Given the description of an element on the screen output the (x, y) to click on. 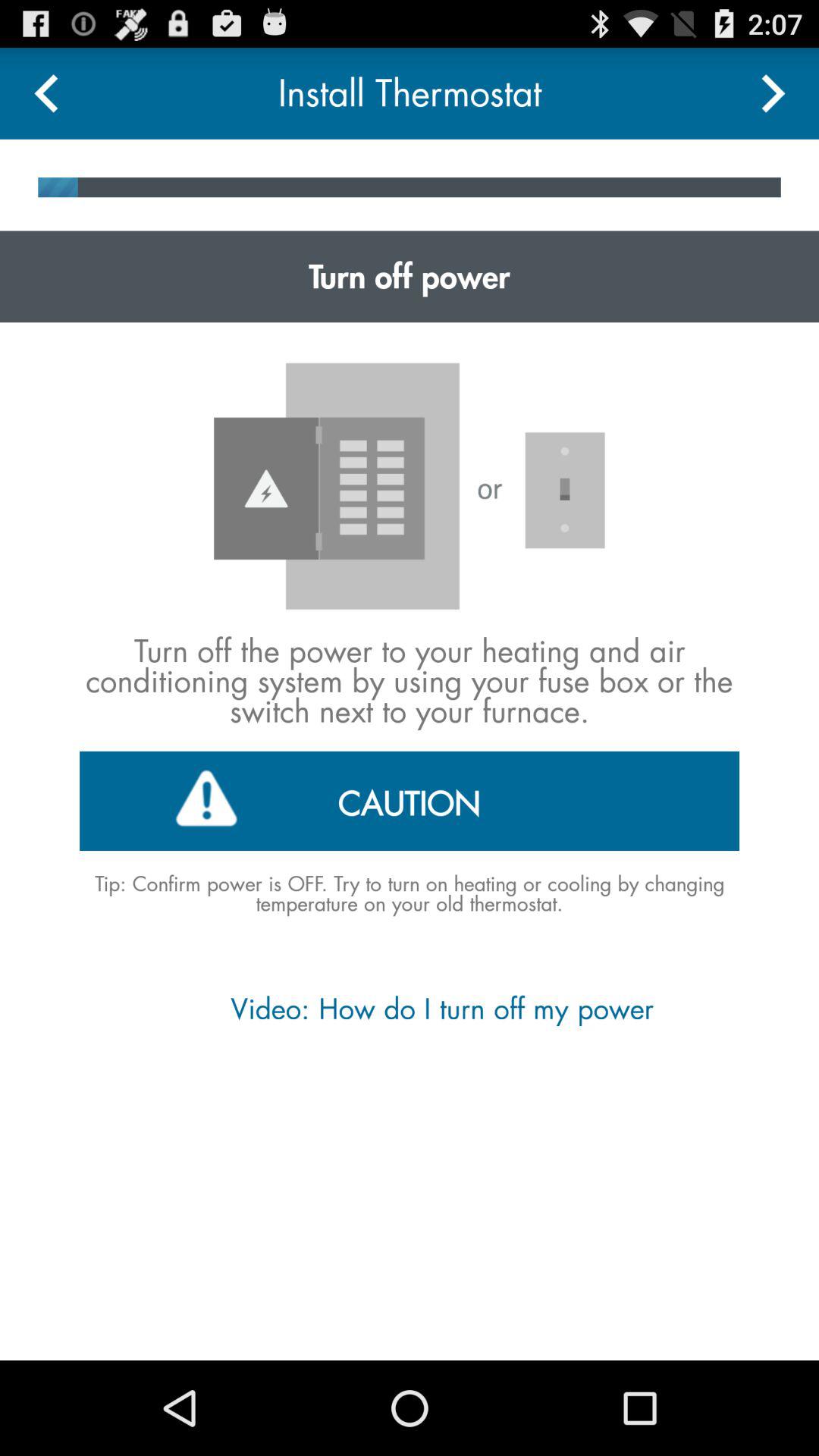
turn on the app below tip confirm power item (408, 1008)
